Given the description of an element on the screen output the (x, y) to click on. 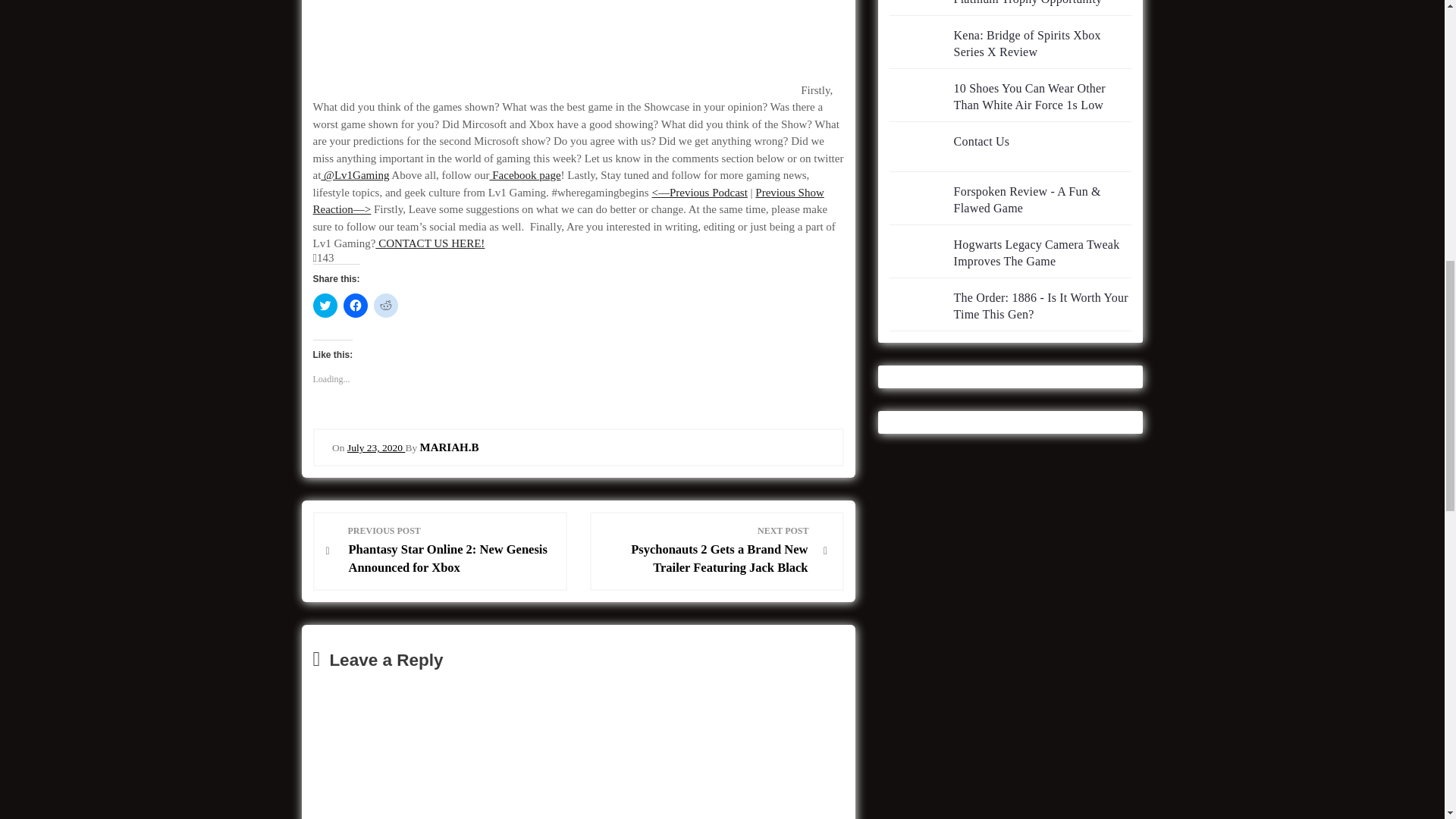
Click to share on Facebook (354, 305)
Click to share on Twitter (324, 305)
CONTACT US HERE! (429, 243)
Facebook page (524, 174)
Click to share on Reddit (384, 305)
